Given the description of an element on the screen output the (x, y) to click on. 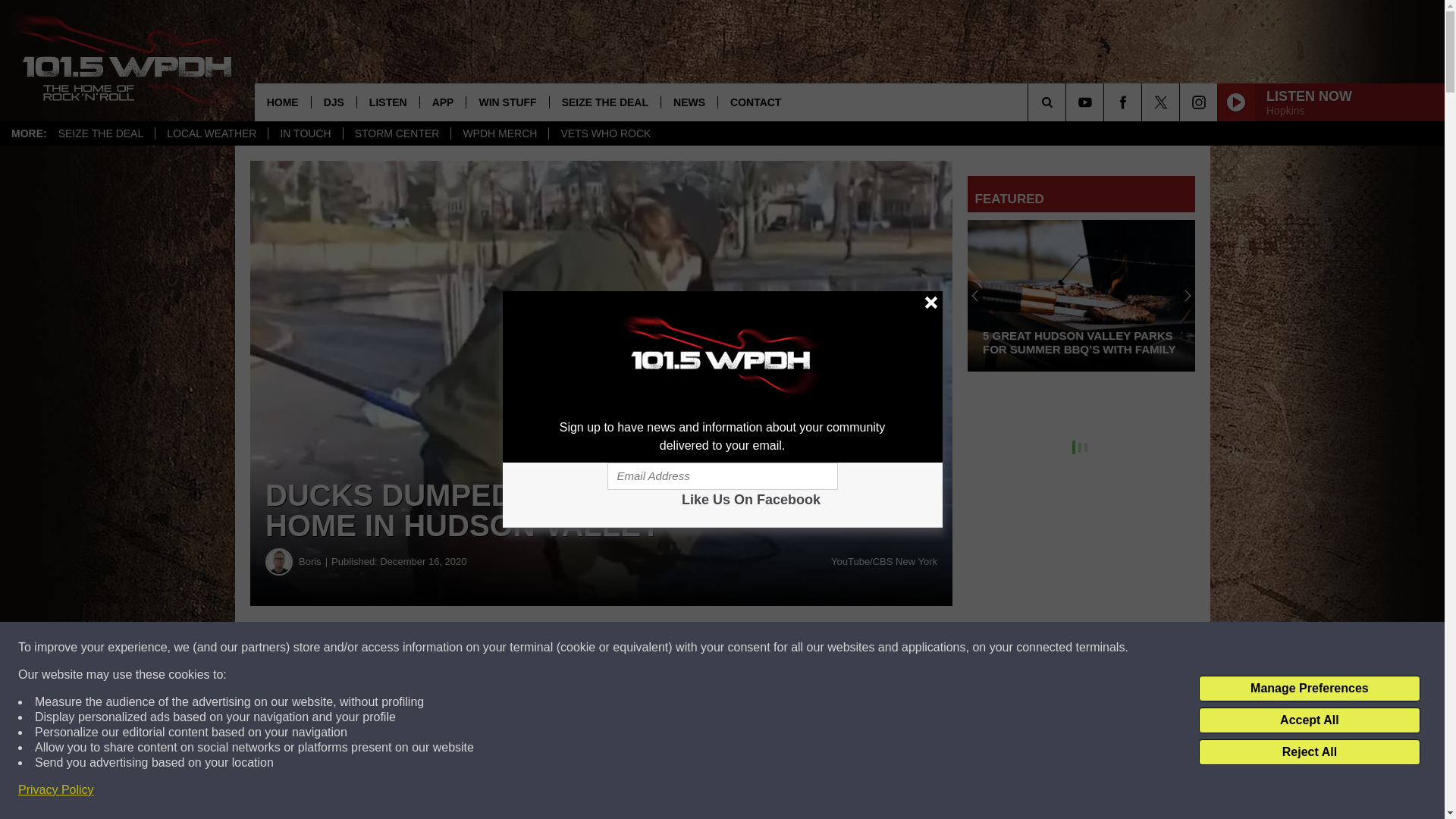
HOME (282, 102)
SEIZE THE DEAL (100, 133)
APP (442, 102)
CONTACT (755, 102)
Manage Preferences (1309, 688)
Share on Twitter (741, 647)
SEARCH (1068, 102)
STORM CENTER (396, 133)
LOCAL WEATHER (210, 133)
Share on Facebook (460, 647)
Reject All (1309, 751)
NEWS (689, 102)
SEIZE THE DEAL (604, 102)
WIN STUFF (506, 102)
Accept All (1309, 720)
